Given the description of an element on the screen output the (x, y) to click on. 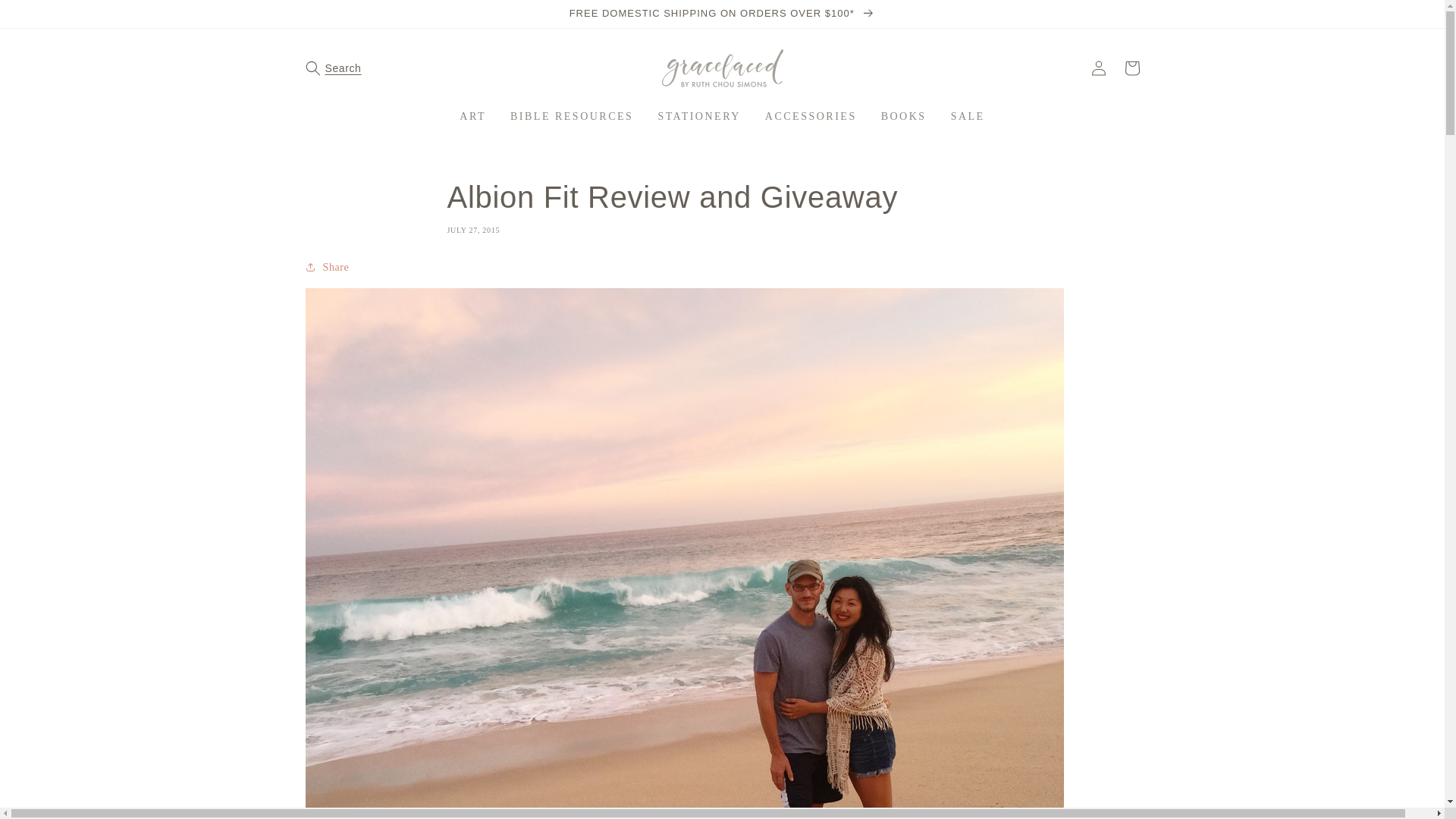
SKIP TO CONTENT (45, 17)
